Given the description of an element on the screen output the (x, y) to click on. 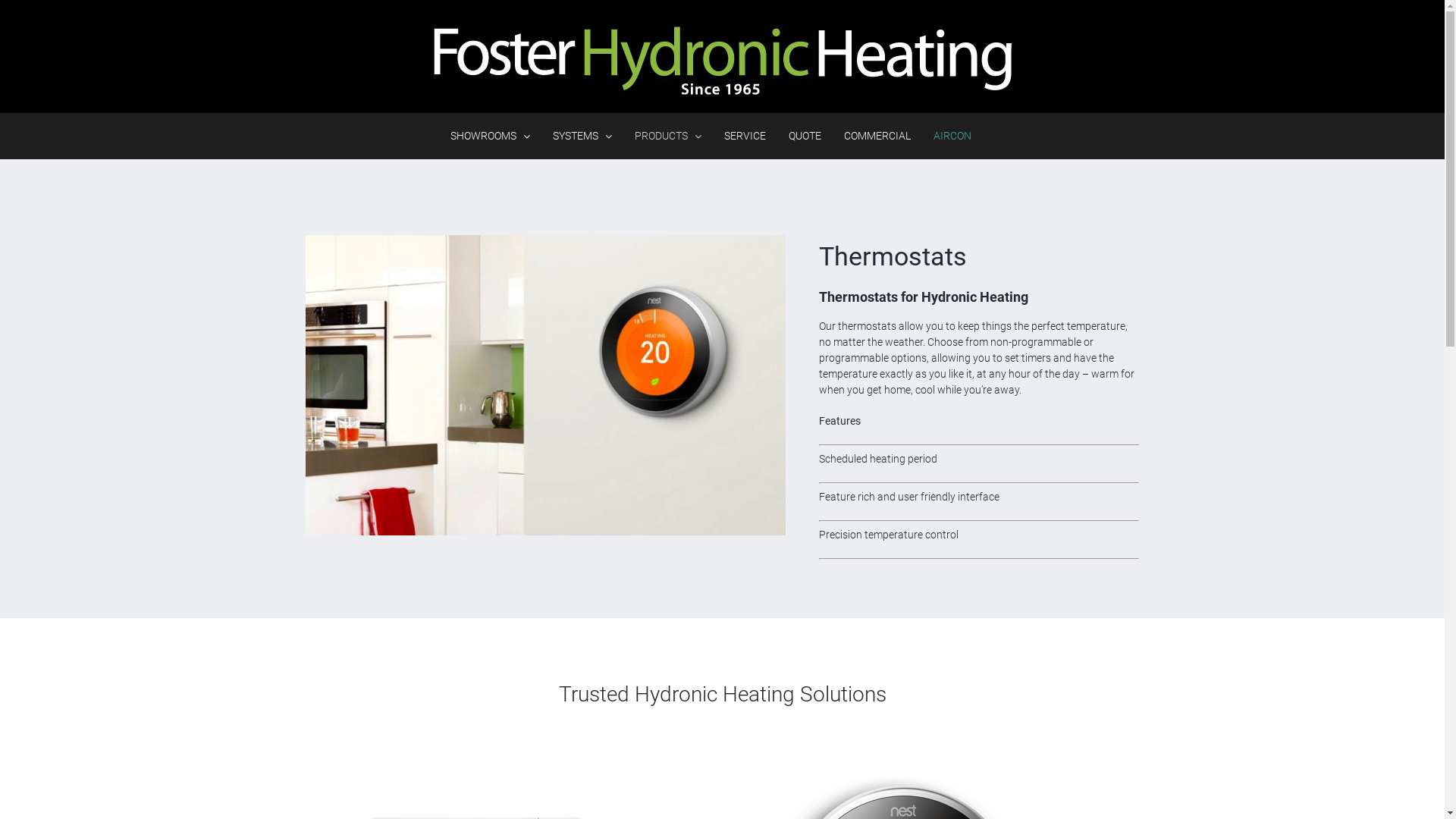
PRODUCTS Element type: text (667, 135)
COMMERCIAL Element type: text (877, 135)
AIRCON Element type: text (952, 135)
SERVICE Element type: text (744, 135)
SHOWROOMS Element type: text (490, 135)
SYSTEMS Element type: text (581, 135)
thermo-nest Element type: hover (544, 385)
QUOTE Element type: text (804, 135)
